Given the description of an element on the screen output the (x, y) to click on. 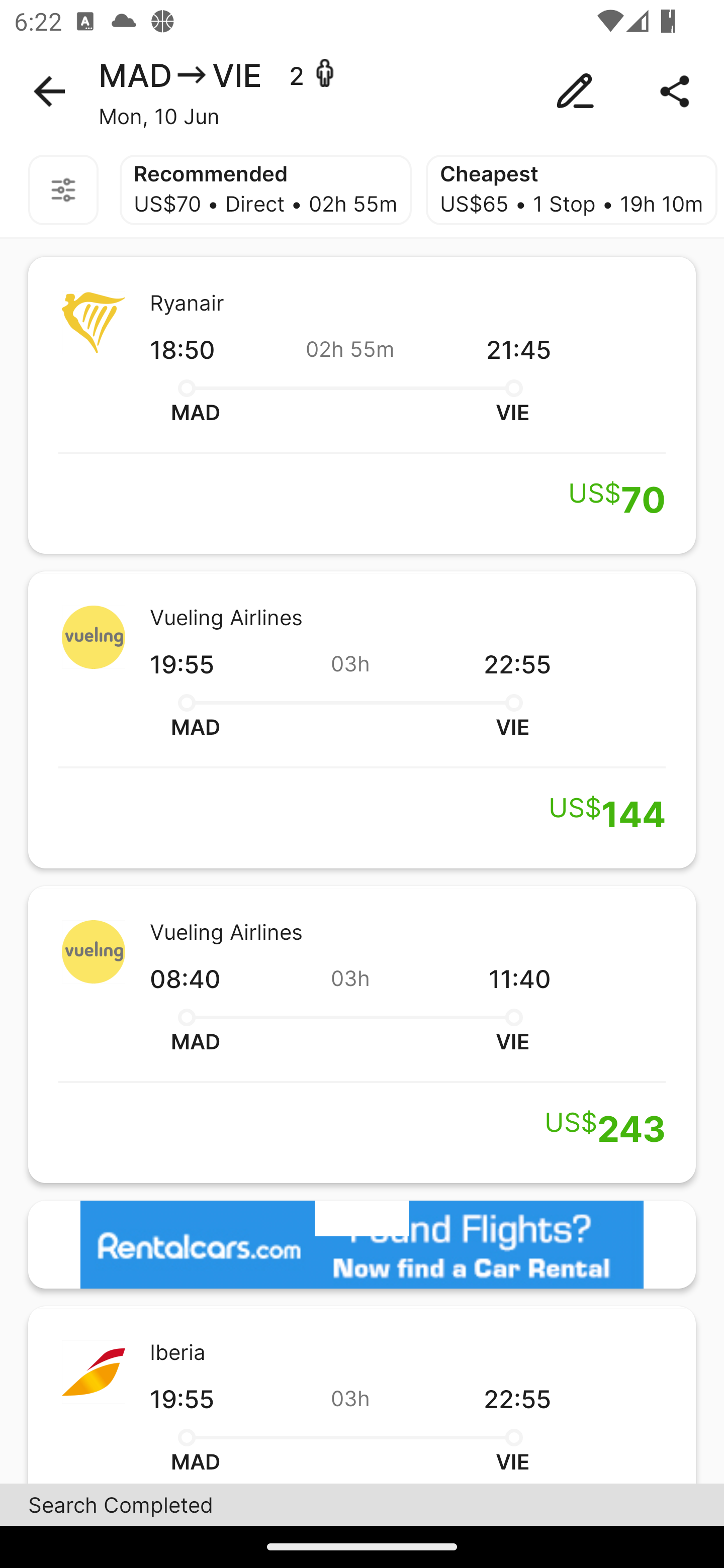
MAD VIE   2 - Mon, 10 Jun (361, 91)
Recommended  US$70 • Direct • 02h 55m (265, 190)
Cheapest US$65 • 1 Stop • 19h 10m (571, 190)
Ryanair 18:50 02h 55m 21:45 MAD VIE (361, 405)
Vueling Airlines 19:55 03h 22:55 MAD VIE (361, 719)
Vueling Airlines 08:40 03h 11:40 MAD VIE (361, 1033)
%3FaffiliateCode%3Dwego882 (361, 1244)
Iberia 19:55 03h 22:55 MAD VIE (361, 1394)
